Given the description of an element on the screen output the (x, y) to click on. 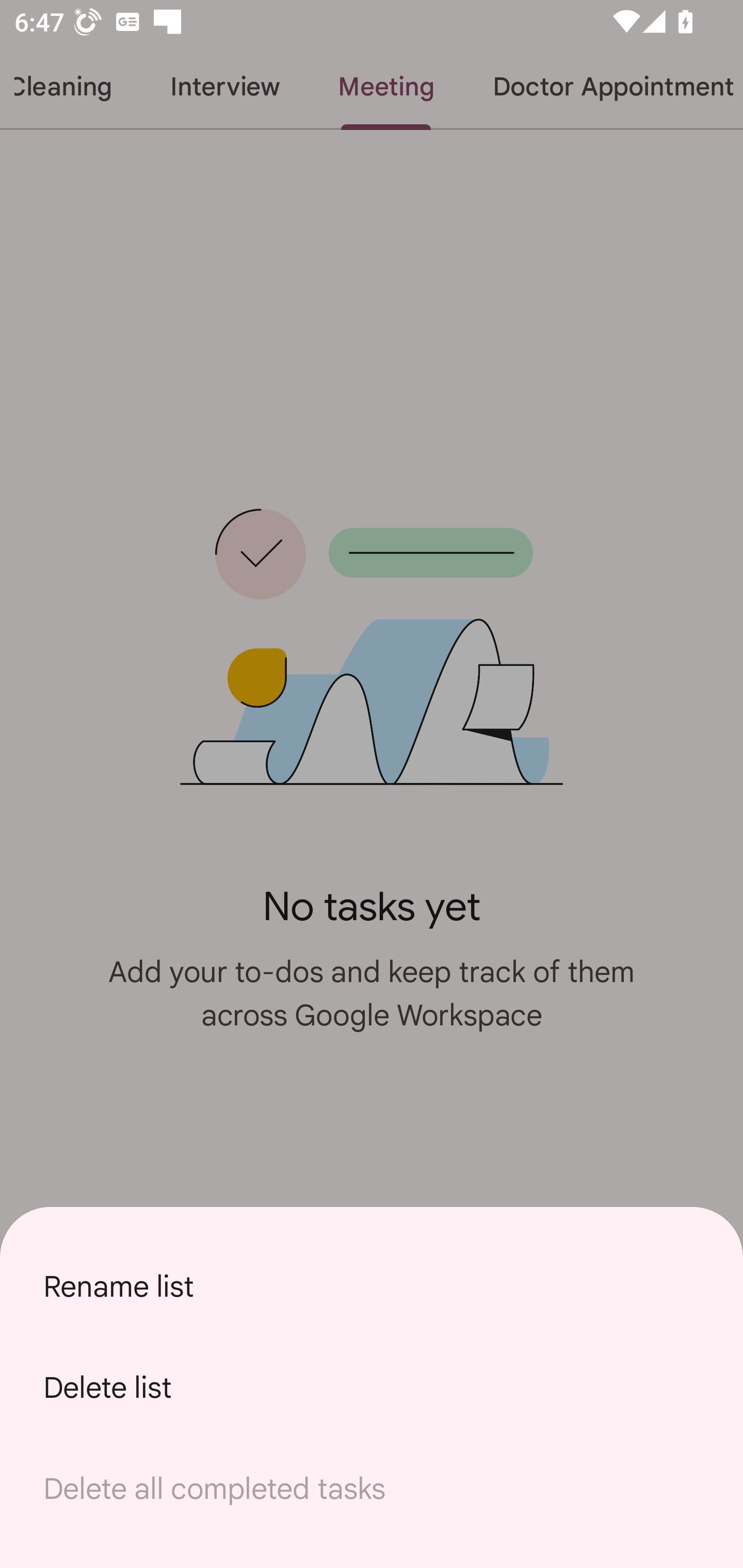
Rename list (371, 1286)
Delete list (371, 1387)
Delete all completed tasks (371, 1488)
